Given the description of an element on the screen output the (x, y) to click on. 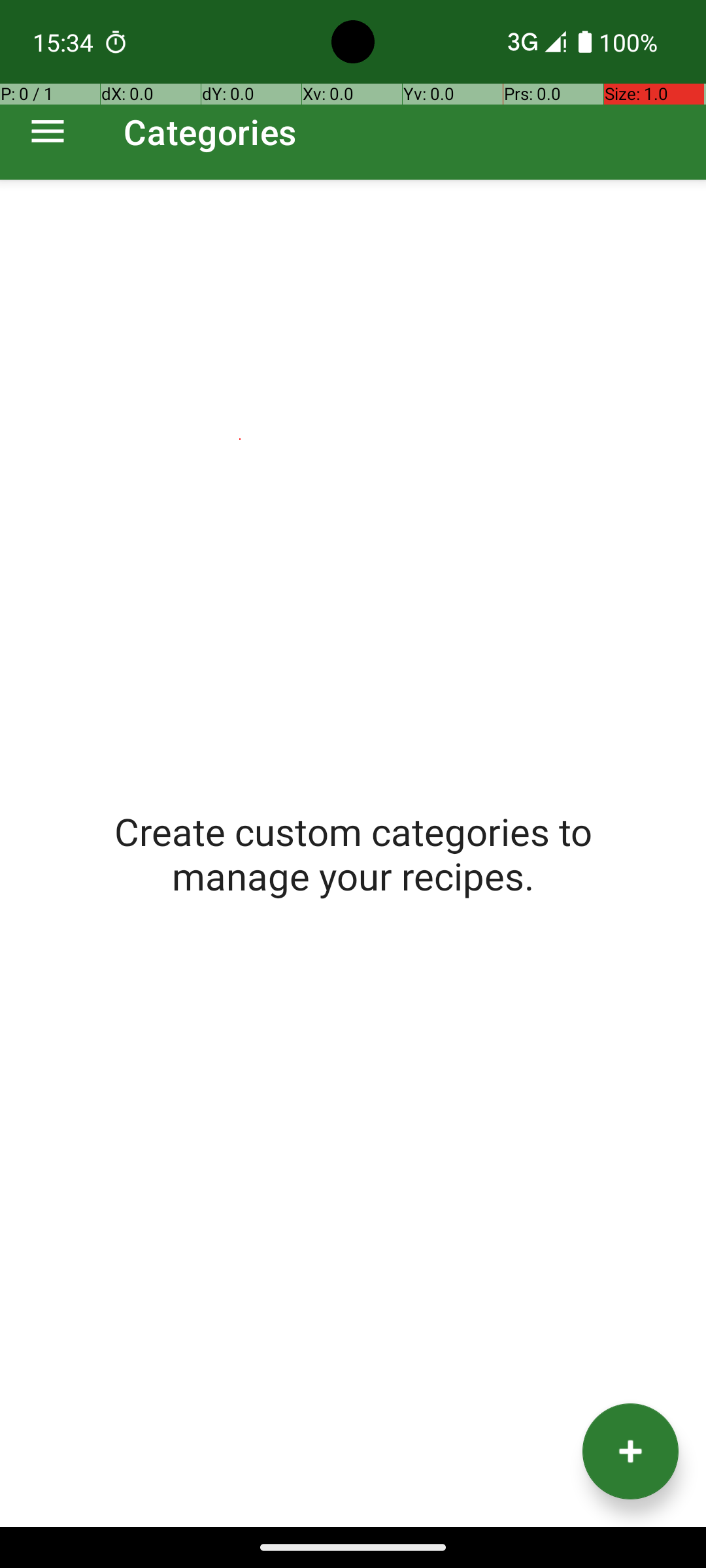
Create custom categories to manage your recipes. Element type: android.widget.TextView (353, 852)
Add category Element type: android.widget.ImageButton (630, 1451)
